Given the description of an element on the screen output the (x, y) to click on. 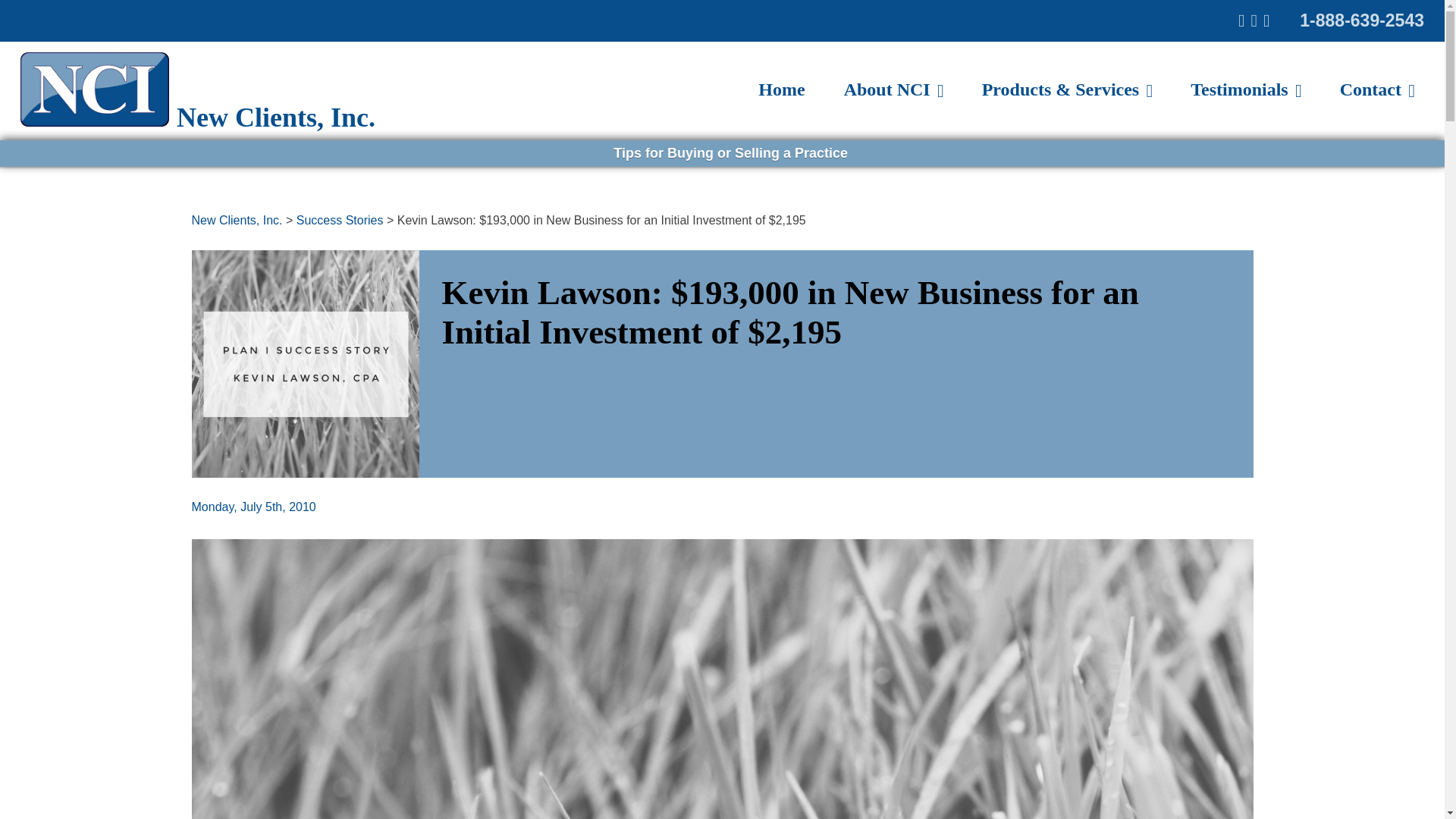
Success Stories (340, 219)
New Clients, Inc. (123, 68)
Contact (1376, 89)
New Clients, Inc. (236, 219)
Home (780, 89)
1-888-639-2543 (1361, 20)
About NCI (893, 89)
Testimonials (1245, 89)
Tips for Buying or Selling a Practice (725, 152)
